Given the description of an element on the screen output the (x, y) to click on. 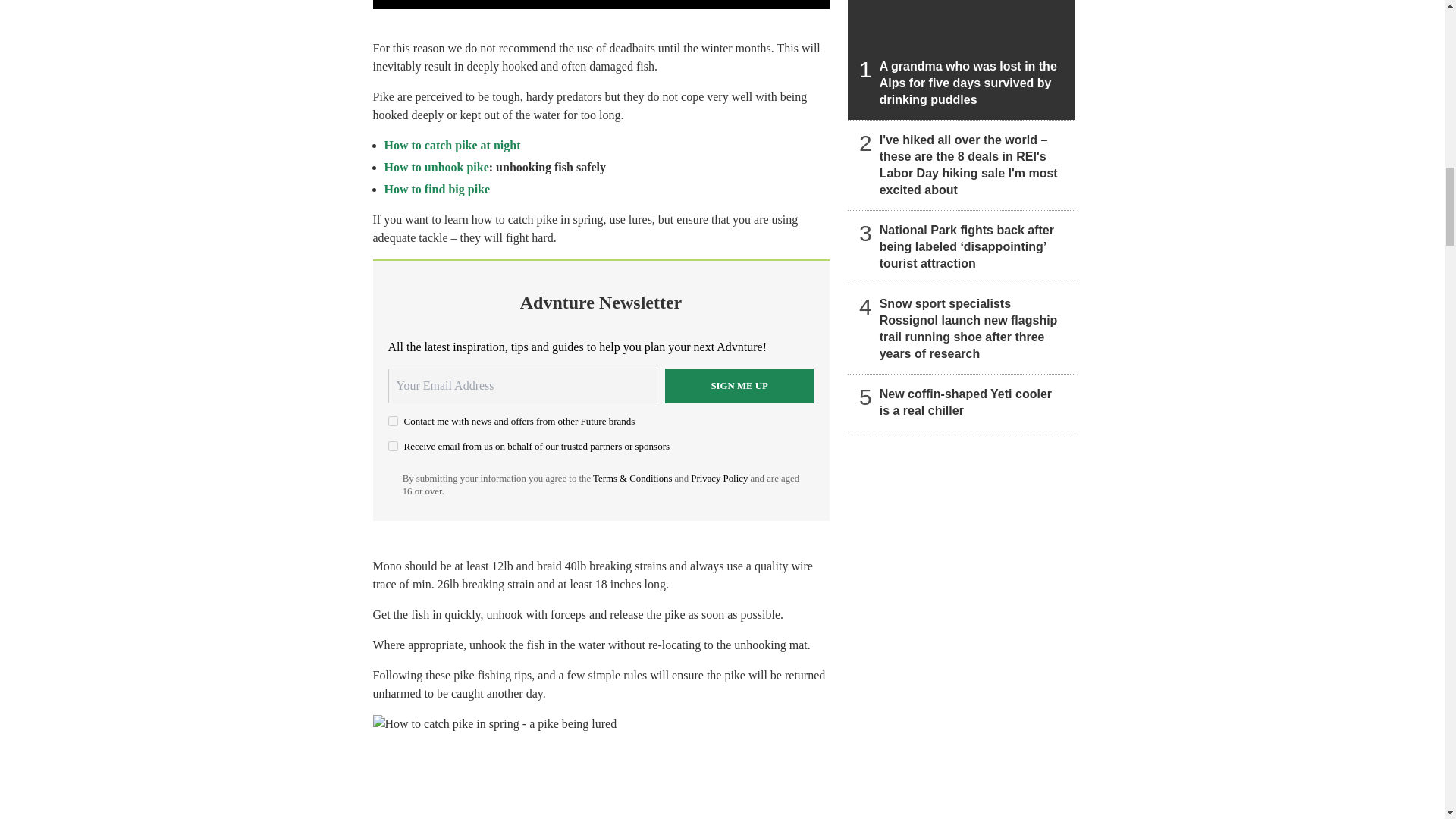
How to find big pike (436, 188)
How to unhook pike (435, 166)
on (392, 446)
on (392, 420)
How to catch pike at night (451, 144)
Sign me up (739, 385)
Privacy Policy (719, 478)
Sign me up (739, 385)
